Given the description of an element on the screen output the (x, y) to click on. 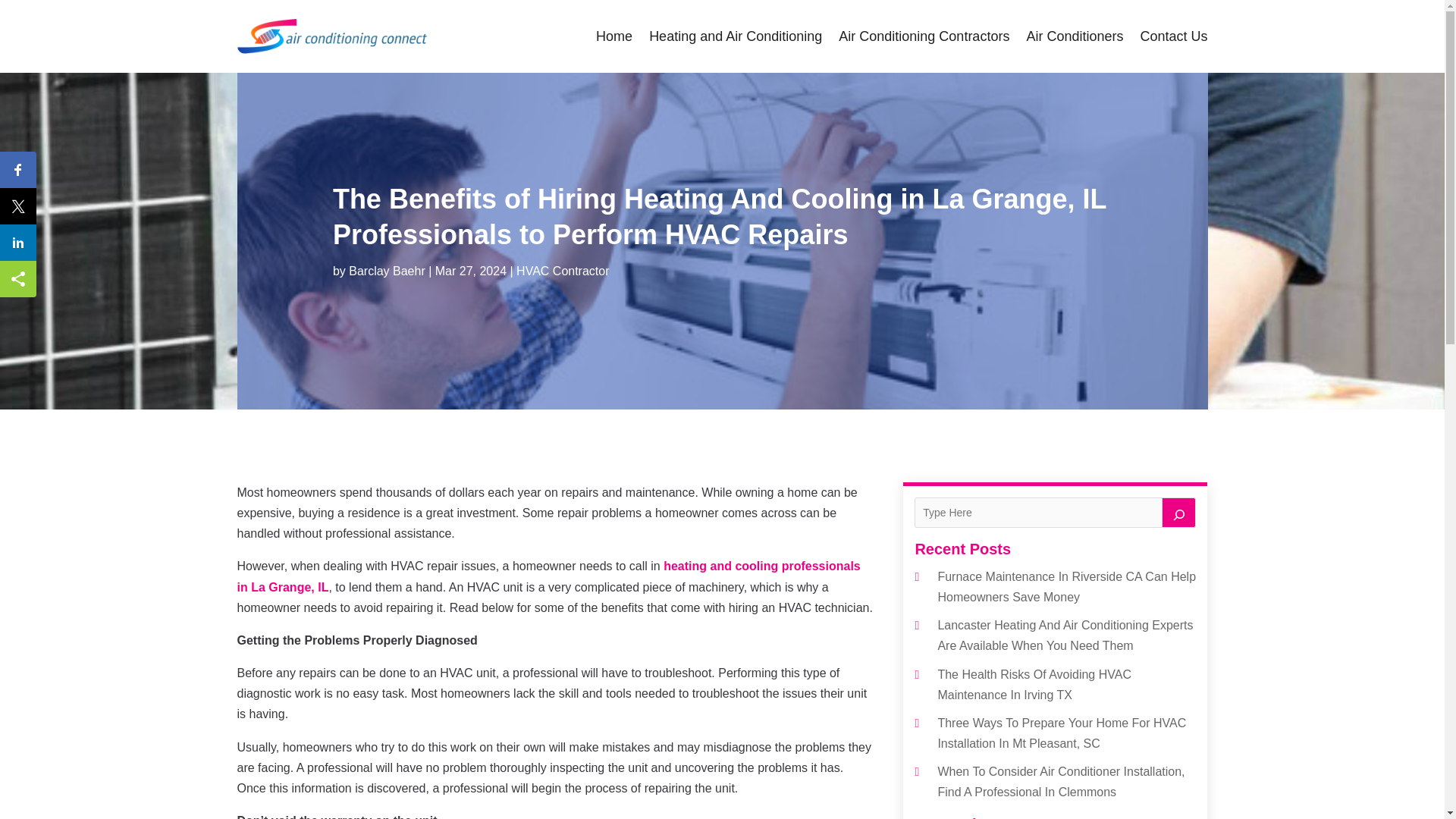
Posts by Barclay Baehr (387, 270)
Contact Us (1173, 36)
Air Conditioning Contractors (923, 36)
heating and cooling professionals in La Grange, IL (547, 575)
The Health Risks Of Avoiding HVAC Maintenance In Irving TX (1034, 684)
Barclay Baehr (387, 270)
Heating and Air Conditioning (735, 36)
HVAC Contractor (562, 270)
Air Conditioners (1074, 36)
